Given the description of an element on the screen output the (x, y) to click on. 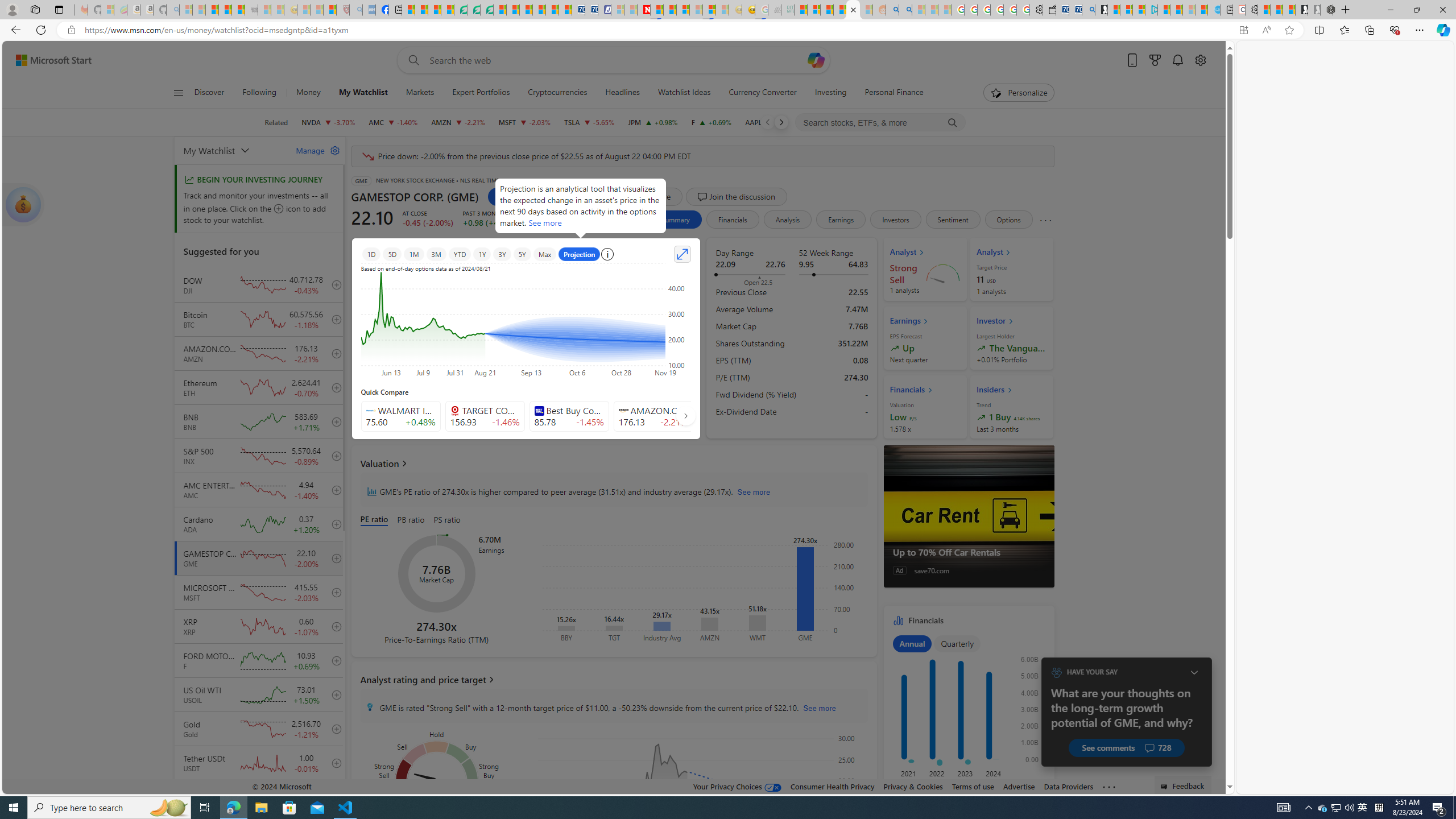
Analyst rating and price target (613, 679)
Class: chartOuter-DS-EntryPoint1-1 (966, 713)
